Given the description of an element on the screen output the (x, y) to click on. 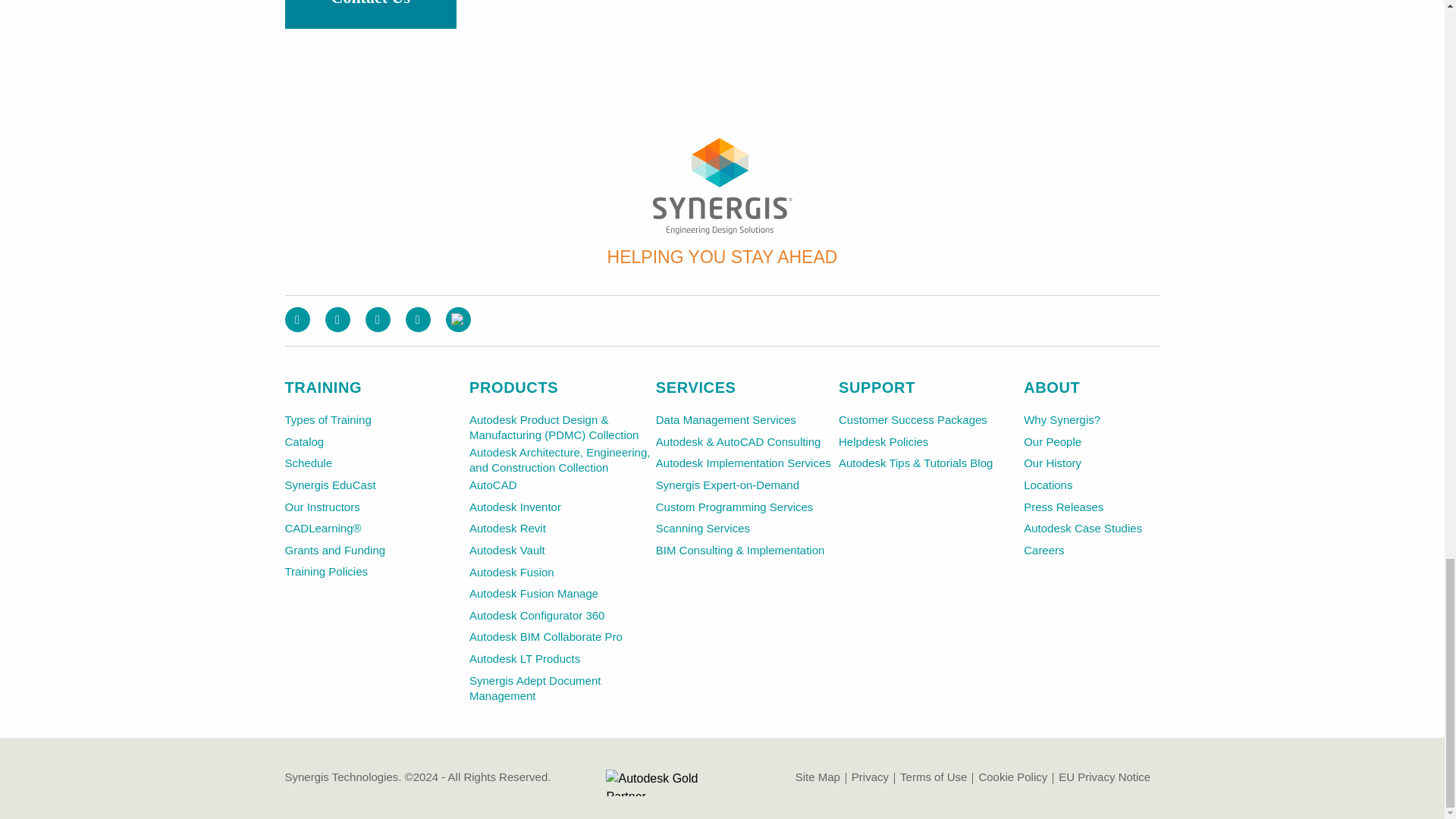
Twitter (336, 319)
LinkedIn (377, 319)
Facebook (297, 319)
YouTube (416, 319)
Slideshare (457, 319)
